Given the description of an element on the screen output the (x, y) to click on. 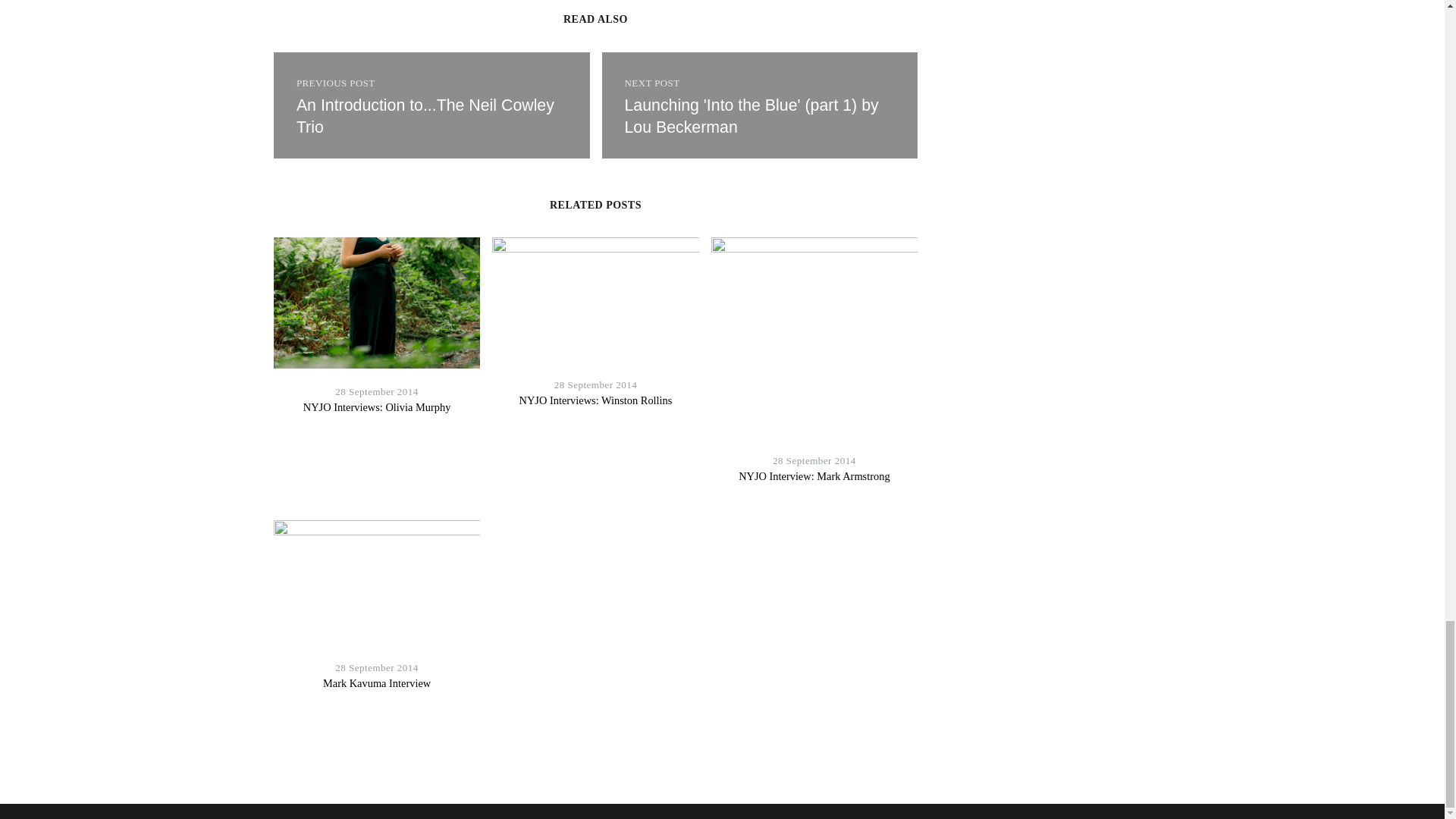
Neil Cowley Interview (760, 105)
An Introduction to...The Neil Cowley Trio (425, 116)
An Introduction to...The Neil Cowley Trio (431, 105)
NYJO Interview: Mark Armstrong (813, 476)
NYJO Interviews: Olivia Murphy (376, 407)
Neil Cowley Interview (751, 116)
Neil Cowley Interview (425, 116)
NYJO Interviews: Winston Rollins (595, 399)
Mark Kavuma Interview (376, 683)
Neil Cowley Interview (431, 105)
